Given the description of an element on the screen output the (x, y) to click on. 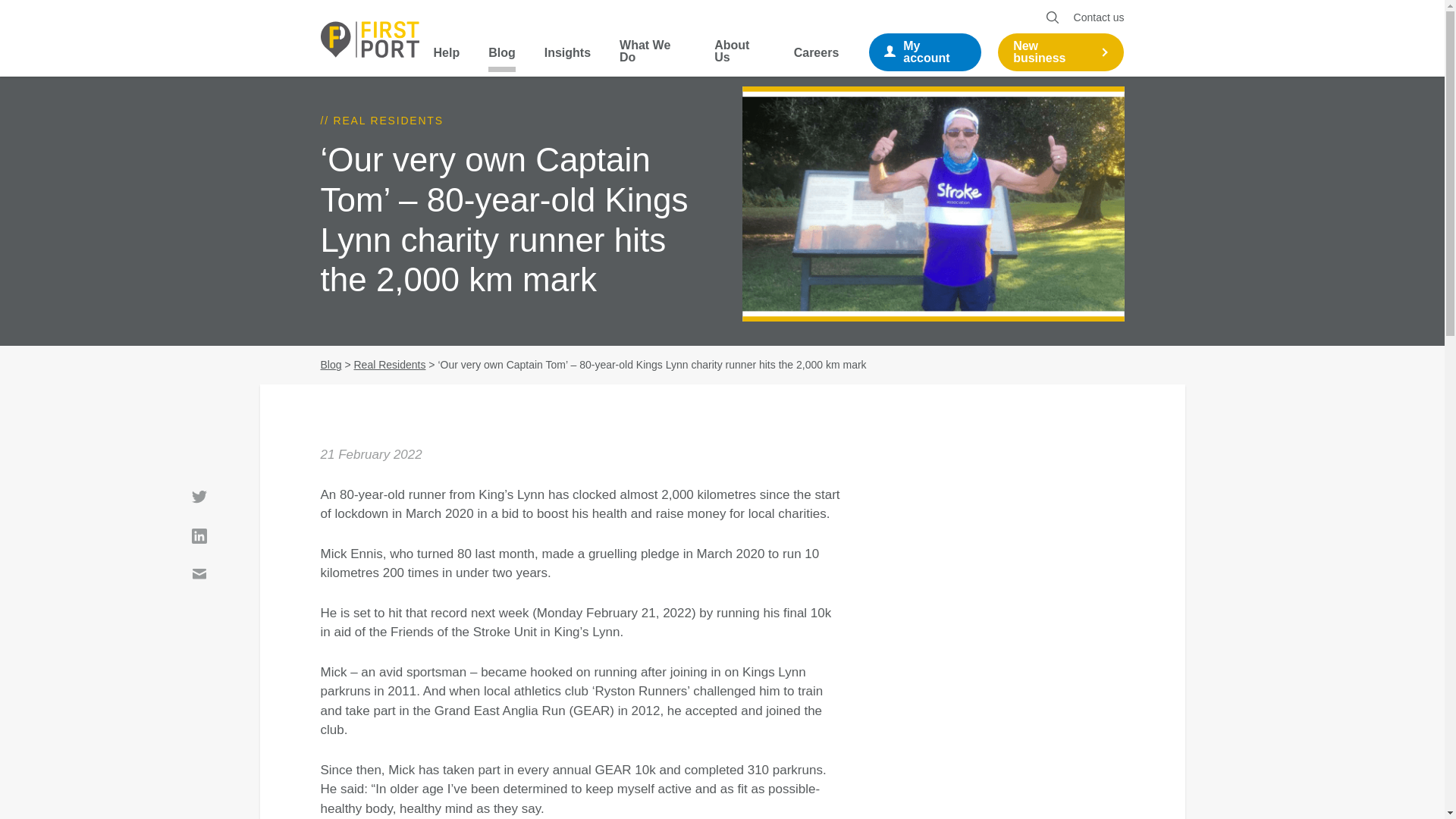
Share on Twitter (198, 497)
Careers (816, 59)
Blog (501, 59)
Help (446, 59)
Contact us (1099, 17)
Go to Blog. (330, 364)
Insights (567, 59)
Share on Email (199, 574)
About Us (739, 57)
My account (925, 52)
What We Do (652, 57)
Go to the Real Residents category archives. (389, 364)
